Given the description of an element on the screen output the (x, y) to click on. 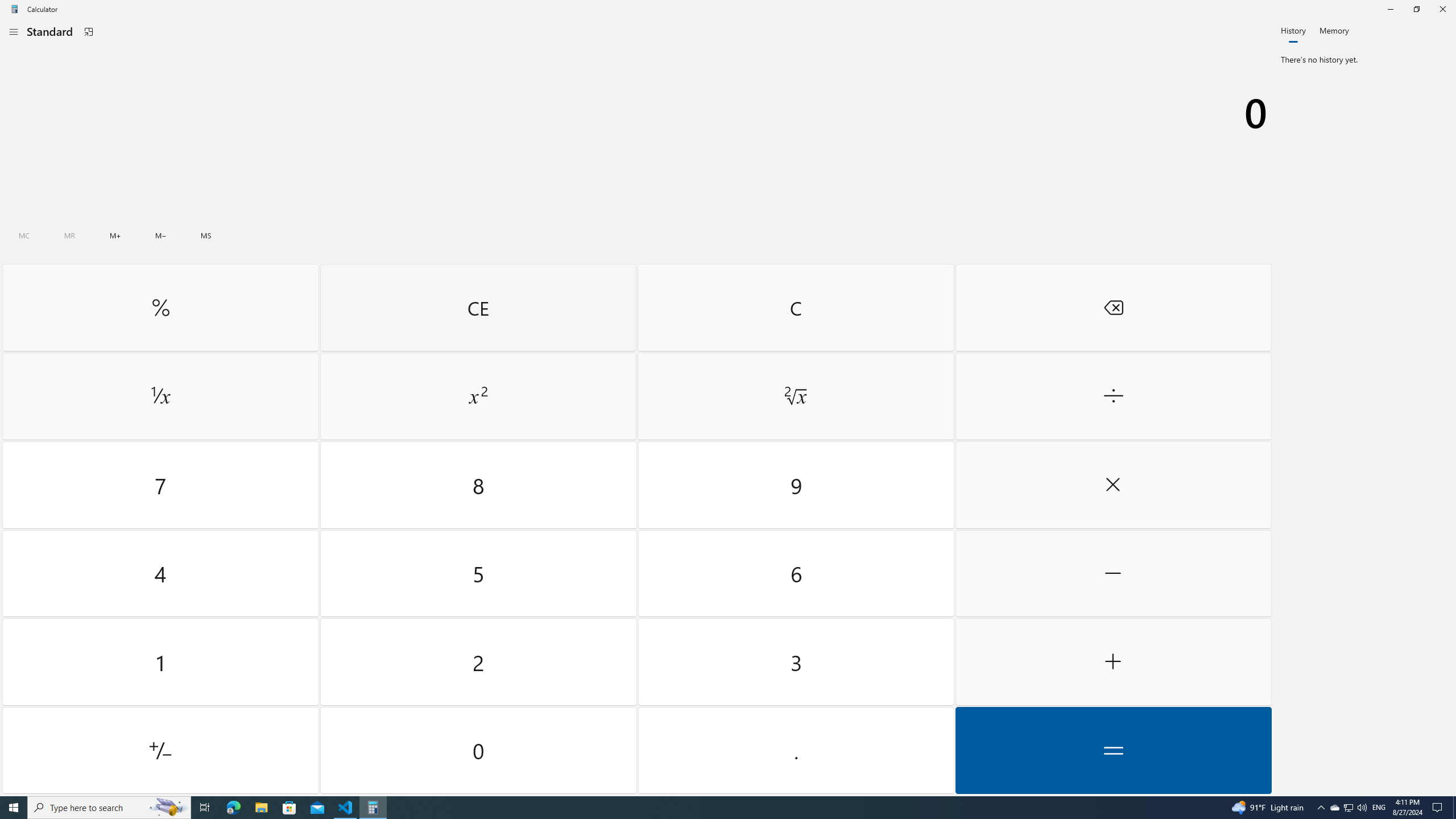
Clear (795, 307)
Backspace (1113, 307)
Eight (478, 485)
Keep on top (88, 31)
Close Calculator (1442, 9)
Three (795, 661)
Memory recall (69, 235)
Restore Calculator (1416, 9)
Open Navigation (13, 31)
Square (478, 396)
